Given the description of an element on the screen output the (x, y) to click on. 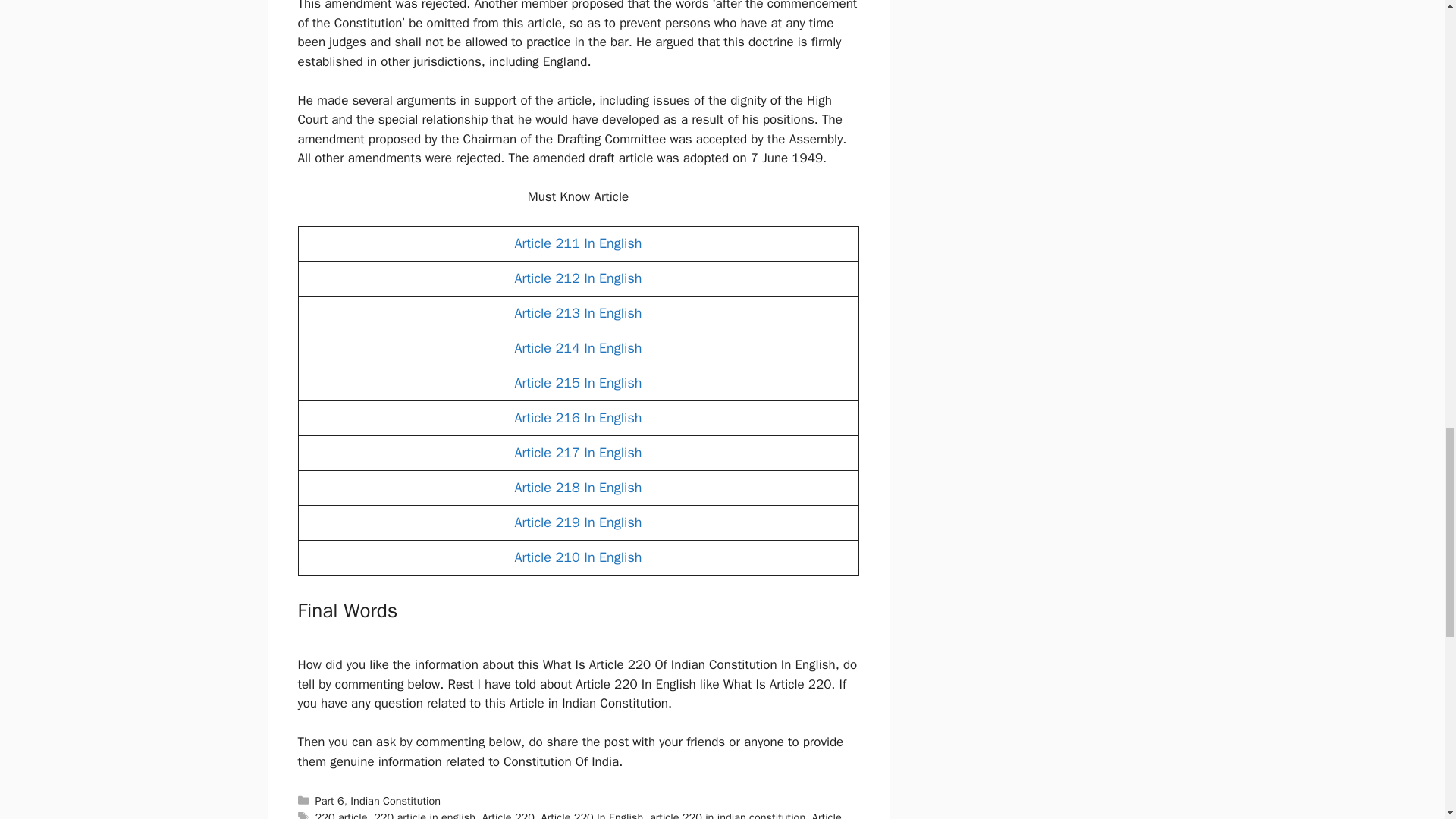
Article 212 In English (578, 278)
Indian Constitution (395, 800)
Article 219 In English (578, 522)
Article 210 In English (578, 556)
article 220 in indian constitution (727, 814)
Article 214 In English (578, 347)
Article 218 In English (578, 487)
220 article in english (425, 814)
Article 213 In English (578, 312)
Article 217 In English (578, 452)
